Given the description of an element on the screen output the (x, y) to click on. 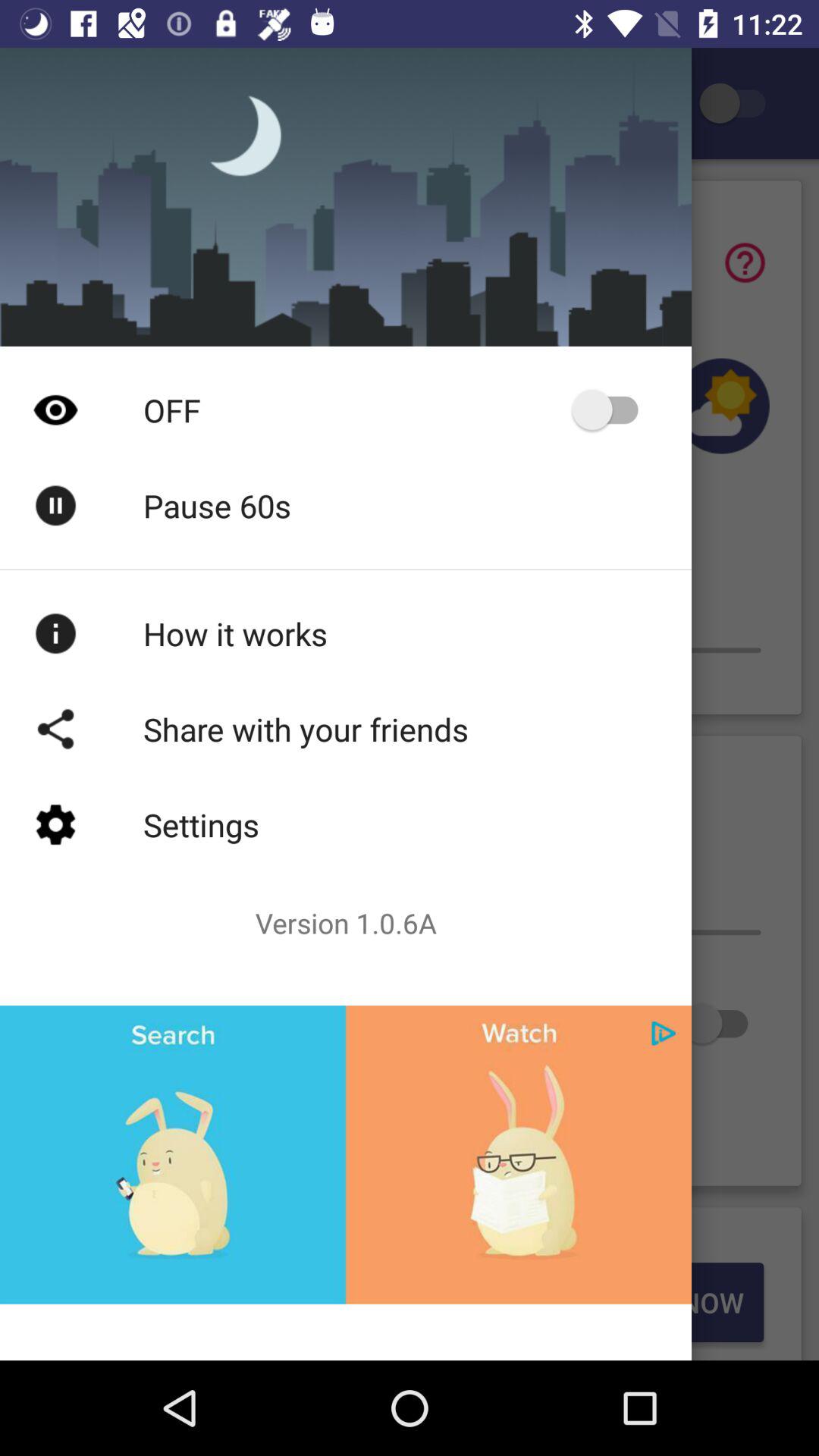
advertisement banner (345, 1154)
